Given the description of an element on the screen output the (x, y) to click on. 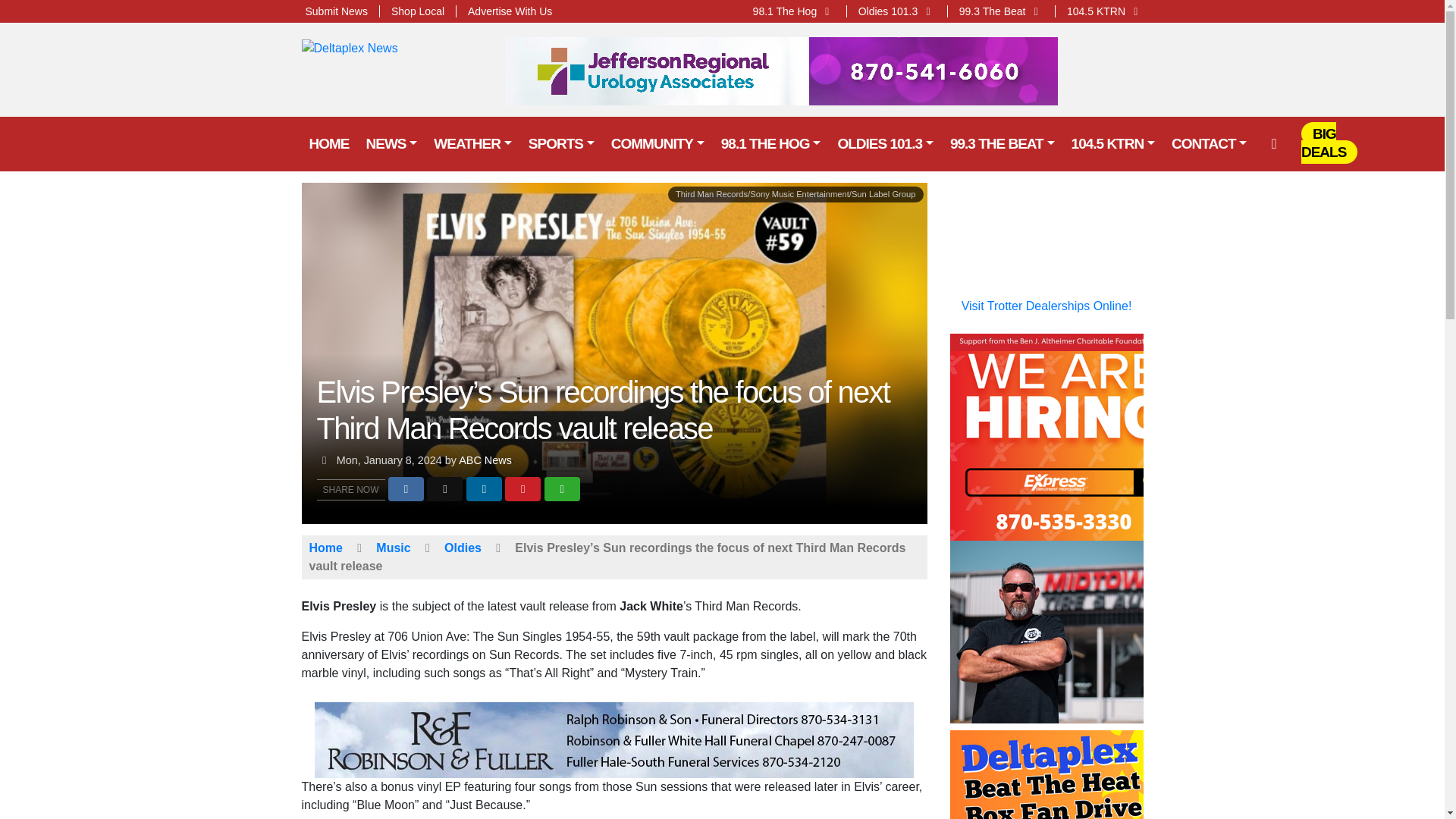
Share to X (444, 488)
Share to Pinterest (522, 488)
Share to LinkedIn (483, 488)
Posts by ABC News (485, 460)
Share to Facebook (405, 488)
